Given the description of an element on the screen output the (x, y) to click on. 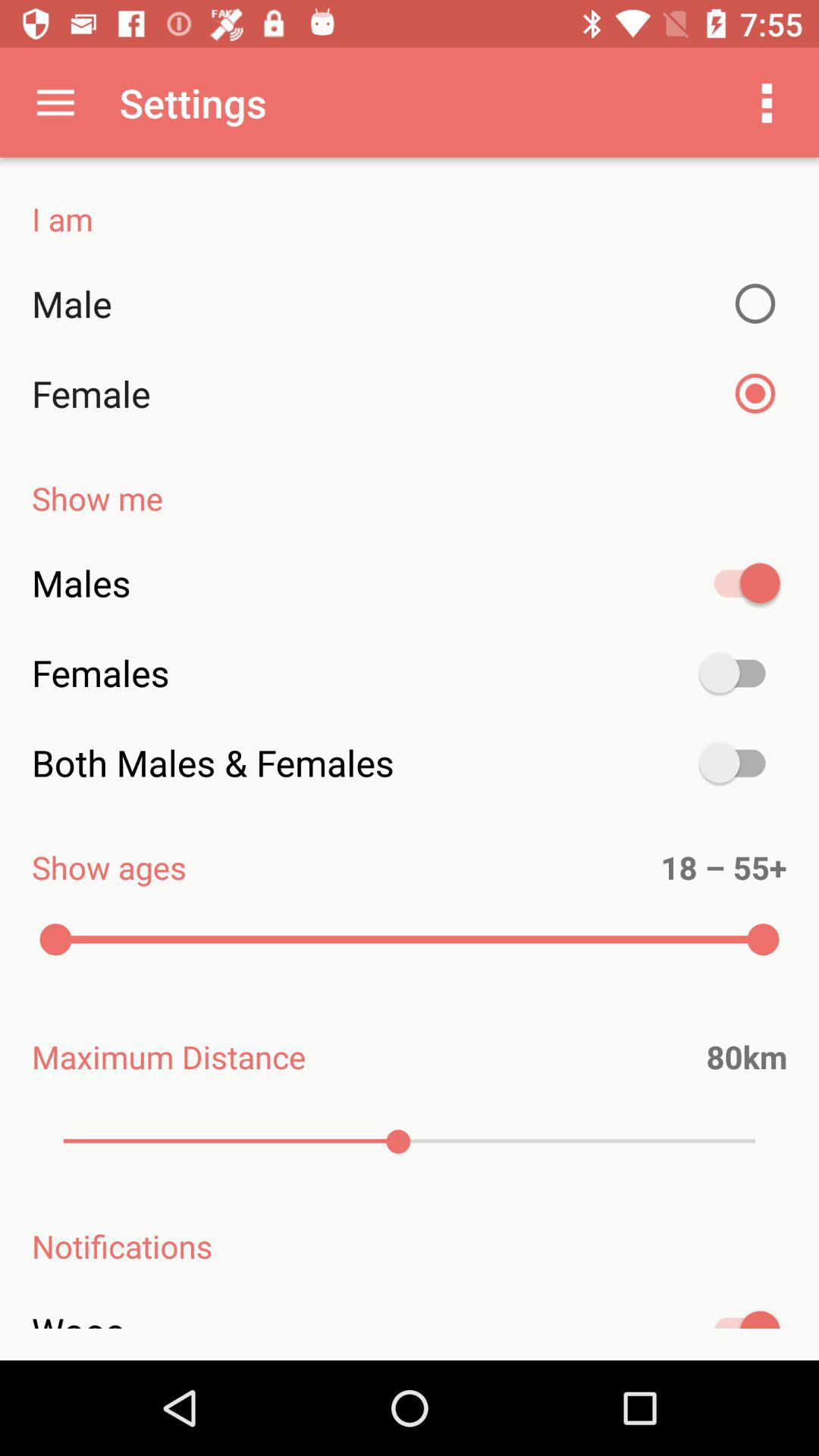
launch icon at the top right corner (767, 102)
